Given the description of an element on the screen output the (x, y) to click on. 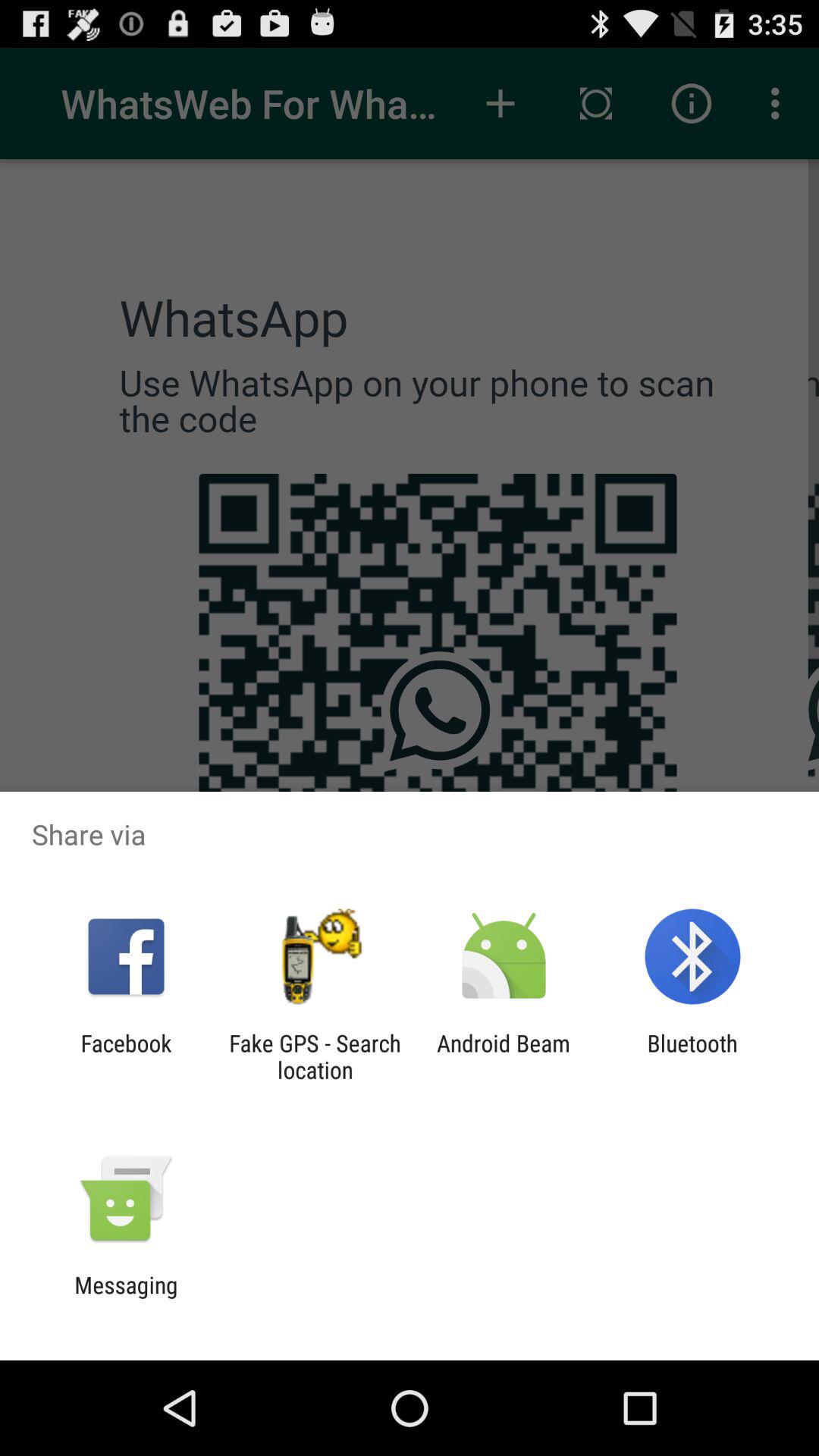
open facebook app (125, 1056)
